Given the description of an element on the screen output the (x, y) to click on. 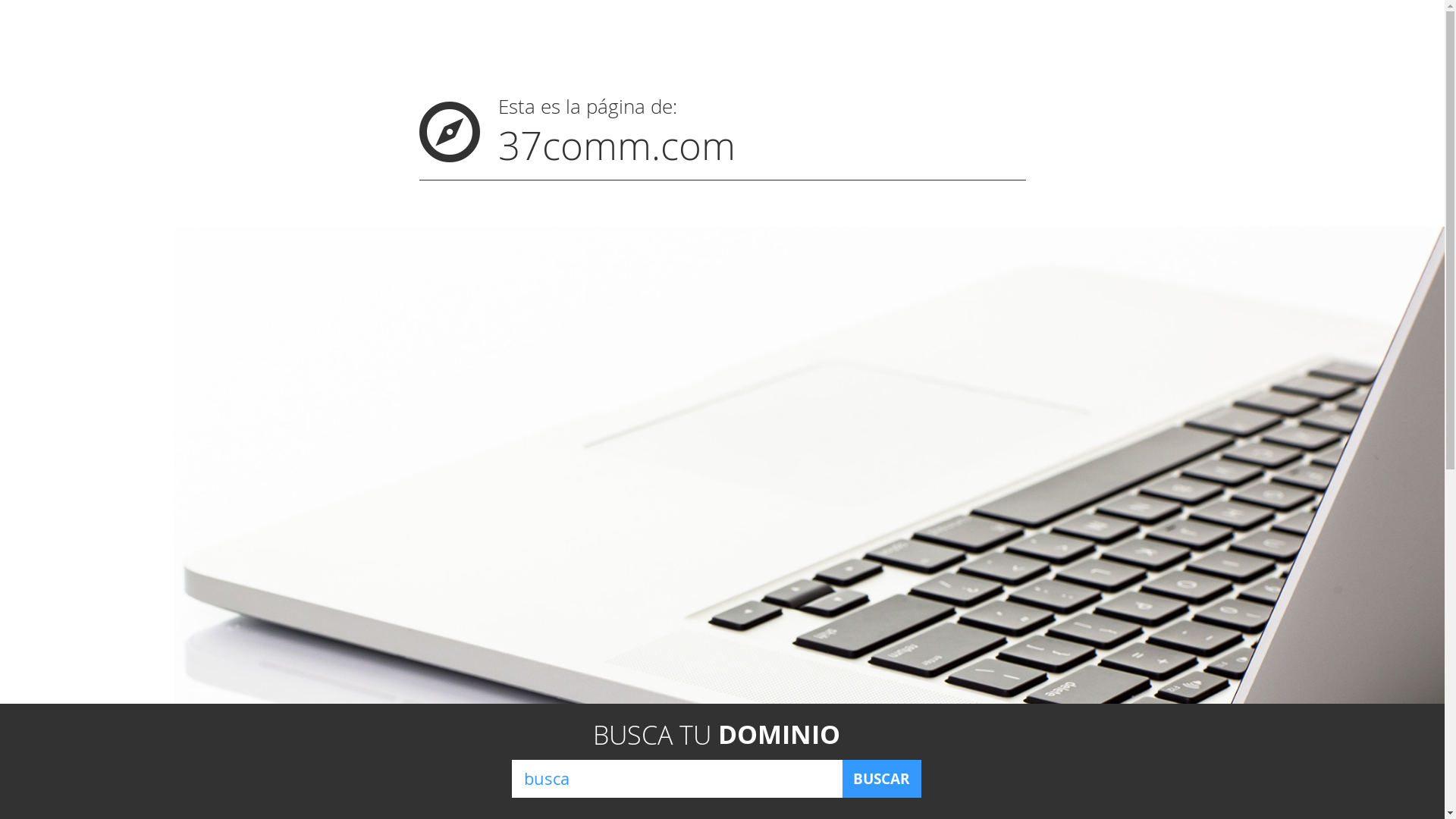
BUSCAR Element type: text (880, 778)
